Given the description of an element on the screen output the (x, y) to click on. 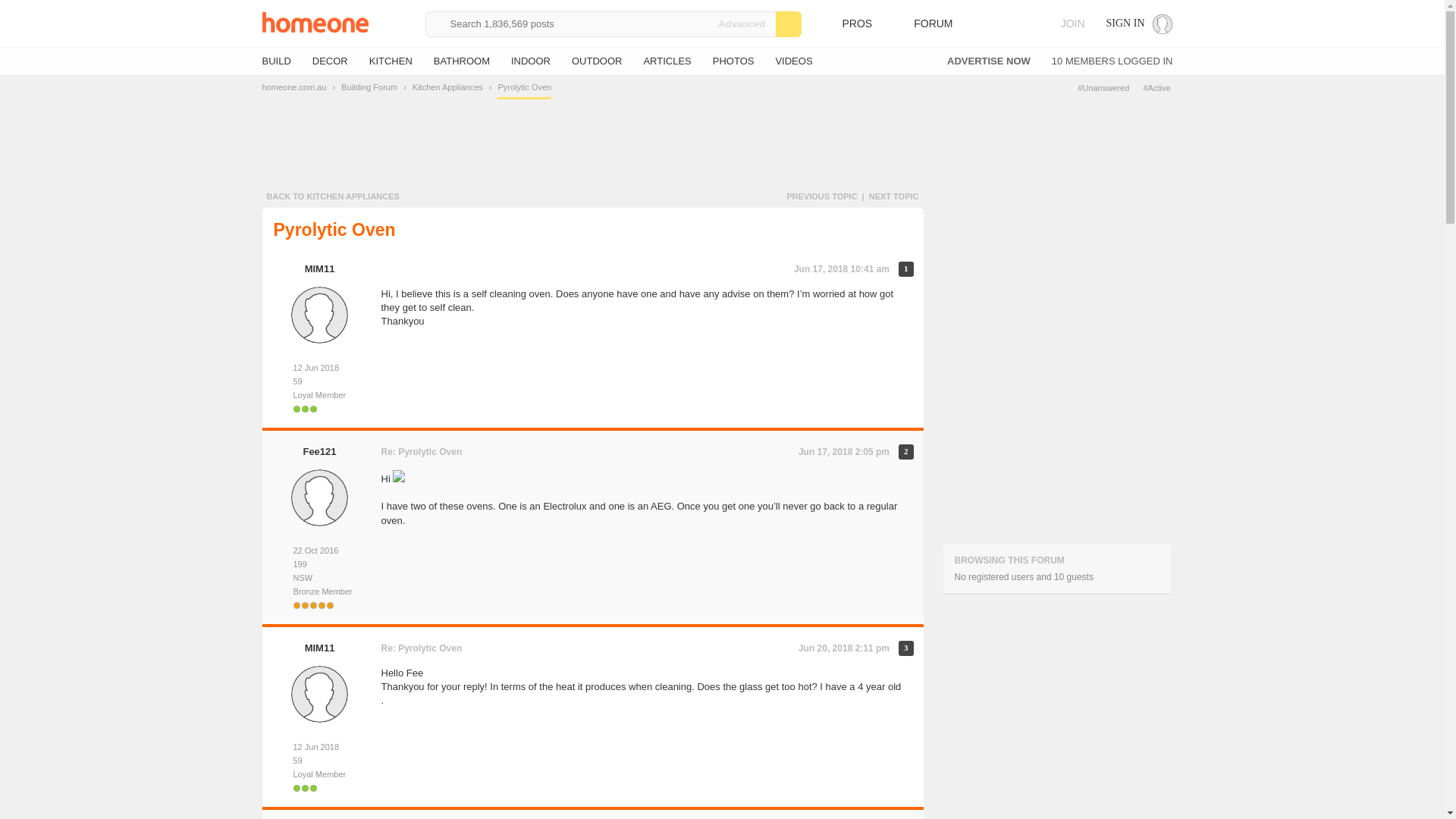
INDOOR (530, 60)
Joined (319, 550)
PHOTOS (733, 60)
SIGN IN (1139, 23)
BACK TO KITCHEN APPLIANCES (332, 195)
OUTDOOR (596, 60)
Posts (319, 760)
2 of 9 posts (906, 451)
Kitchen Appliances (447, 86)
KITCHEN (390, 60)
